Given the description of an element on the screen output the (x, y) to click on. 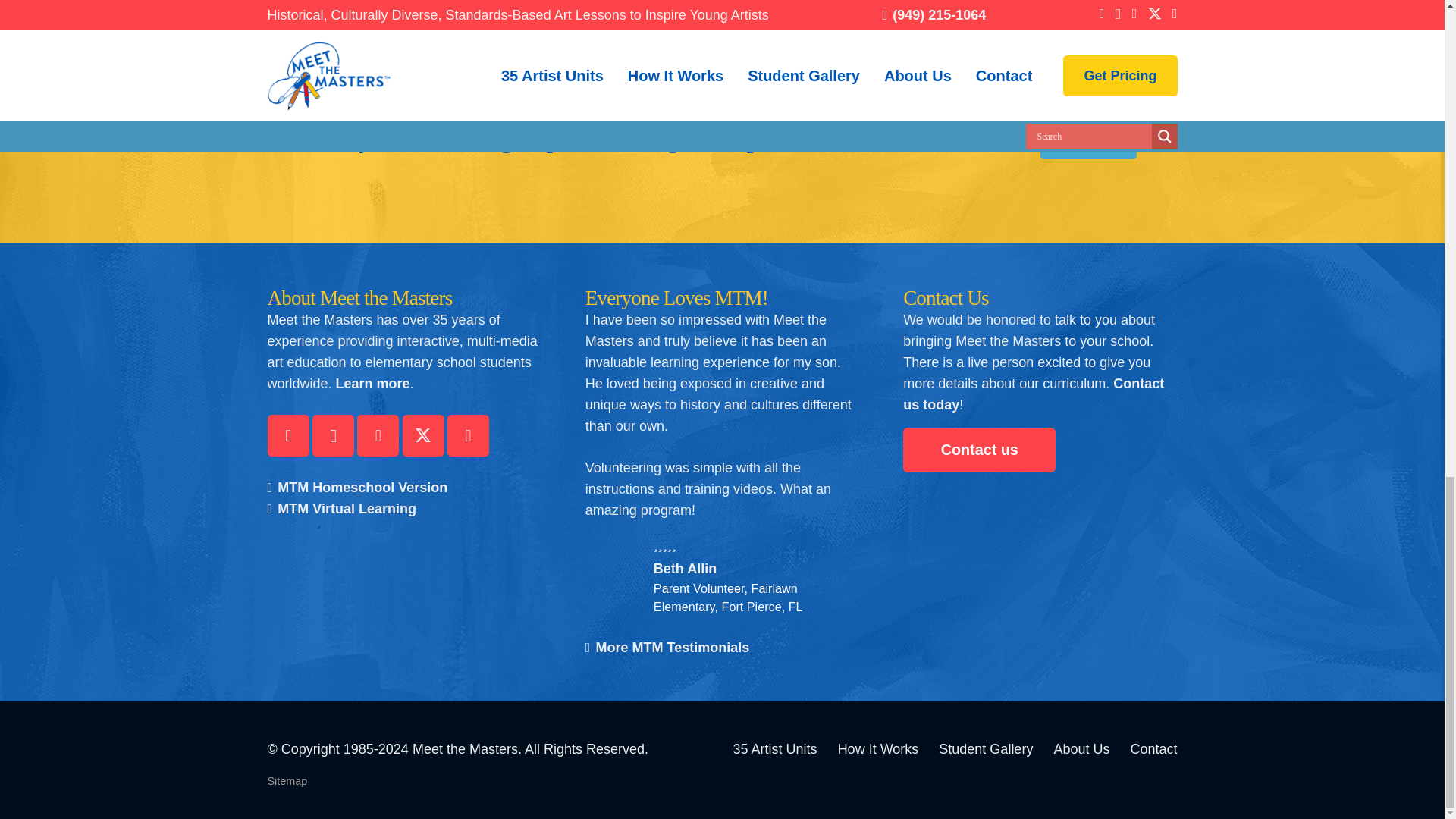
Instagram (333, 435)
Pinterest (377, 435)
Facebook (287, 435)
